Given the description of an element on the screen output the (x, y) to click on. 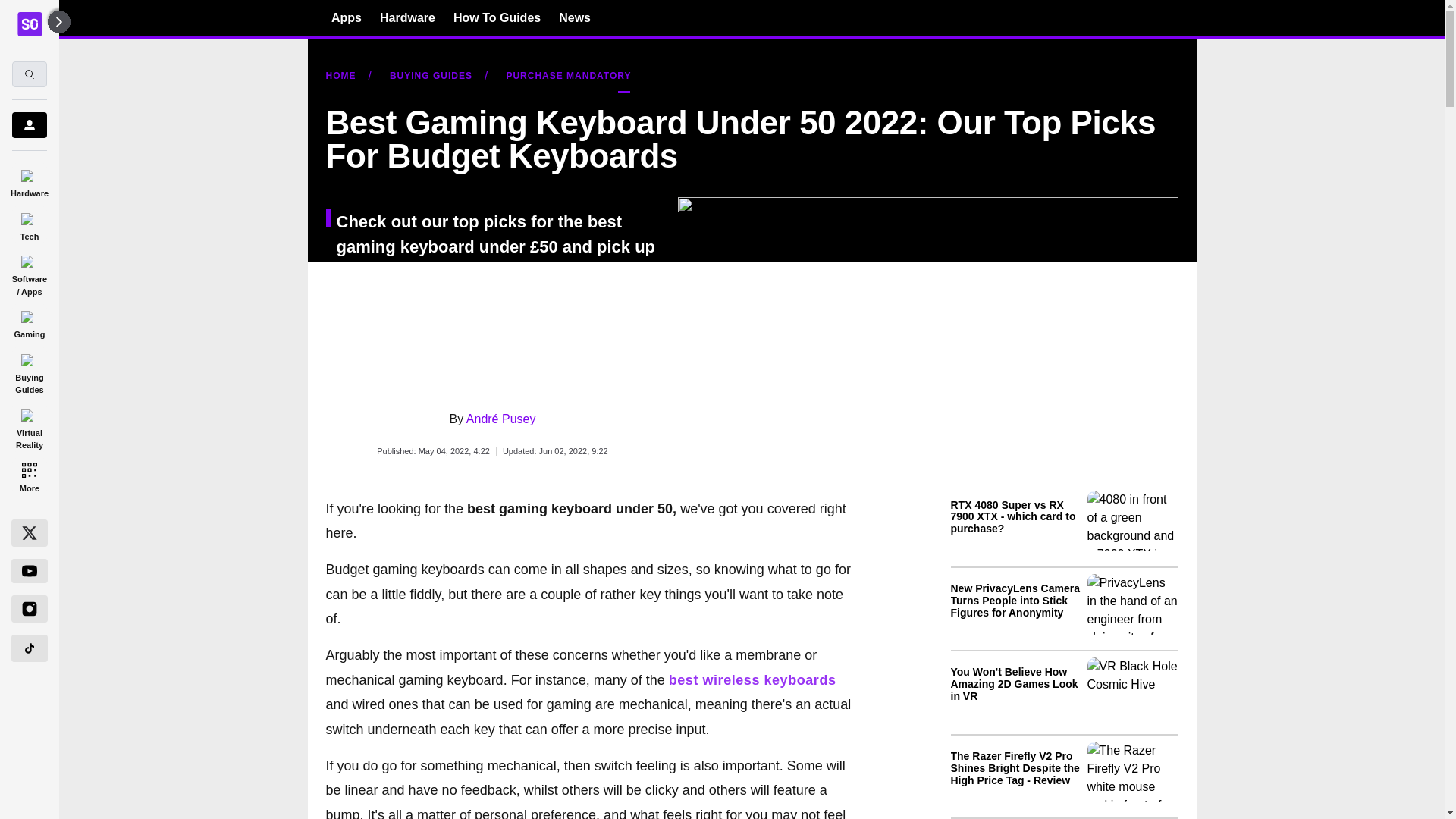
Apps (346, 18)
Hardware (407, 18)
More (28, 476)
News (575, 18)
Hardware (28, 180)
How To Guides (496, 18)
Gaming (28, 322)
Tech (28, 224)
